Given the description of an element on the screen output the (x, y) to click on. 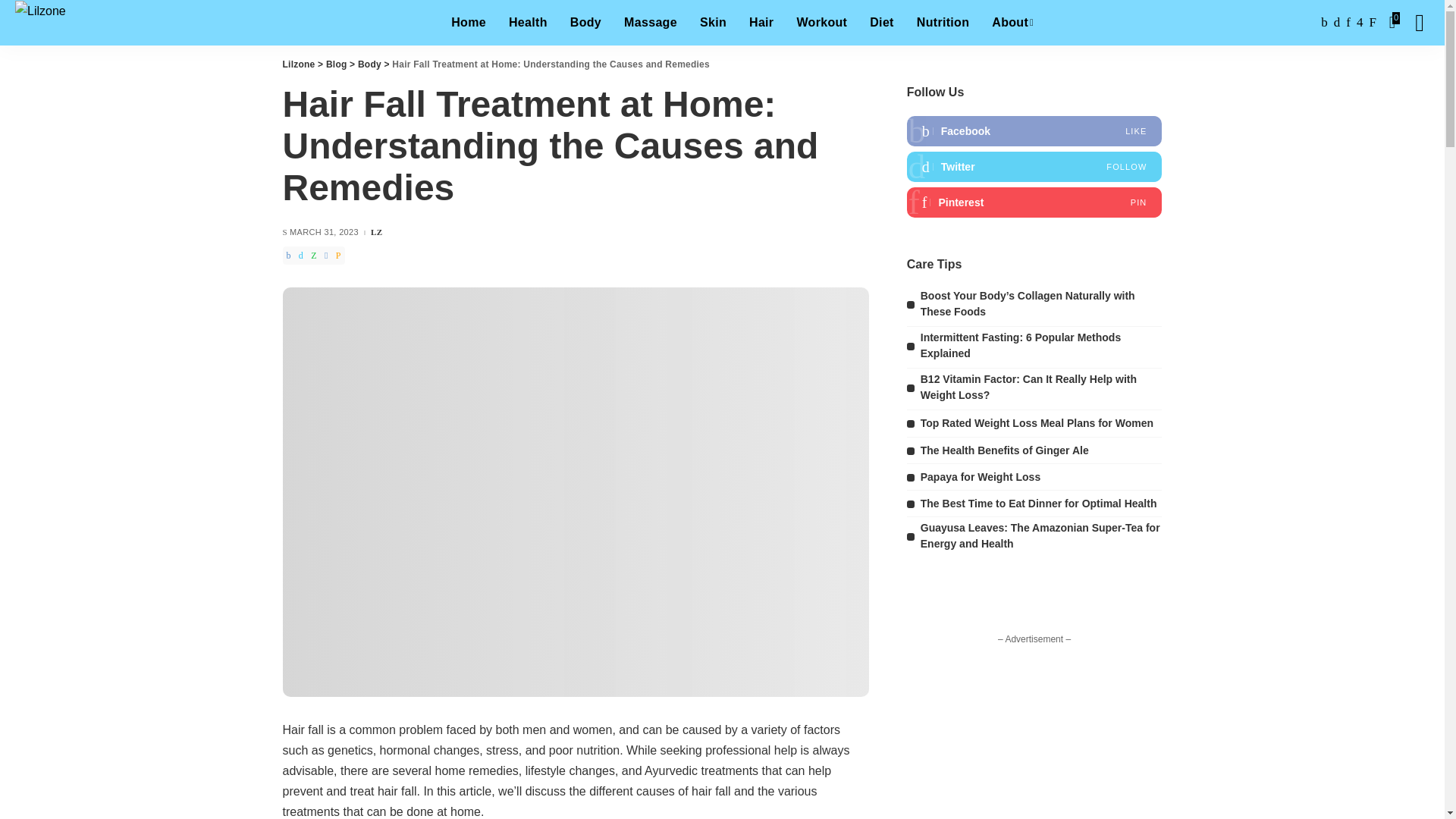
Diet (882, 22)
Home (468, 22)
Health (528, 22)
Hair (761, 22)
Workout (821, 22)
Body (585, 22)
Massage (650, 22)
Nutrition (943, 22)
Lilzone (39, 22)
Skin (713, 22)
About (1012, 22)
